Given the description of an element on the screen output the (x, y) to click on. 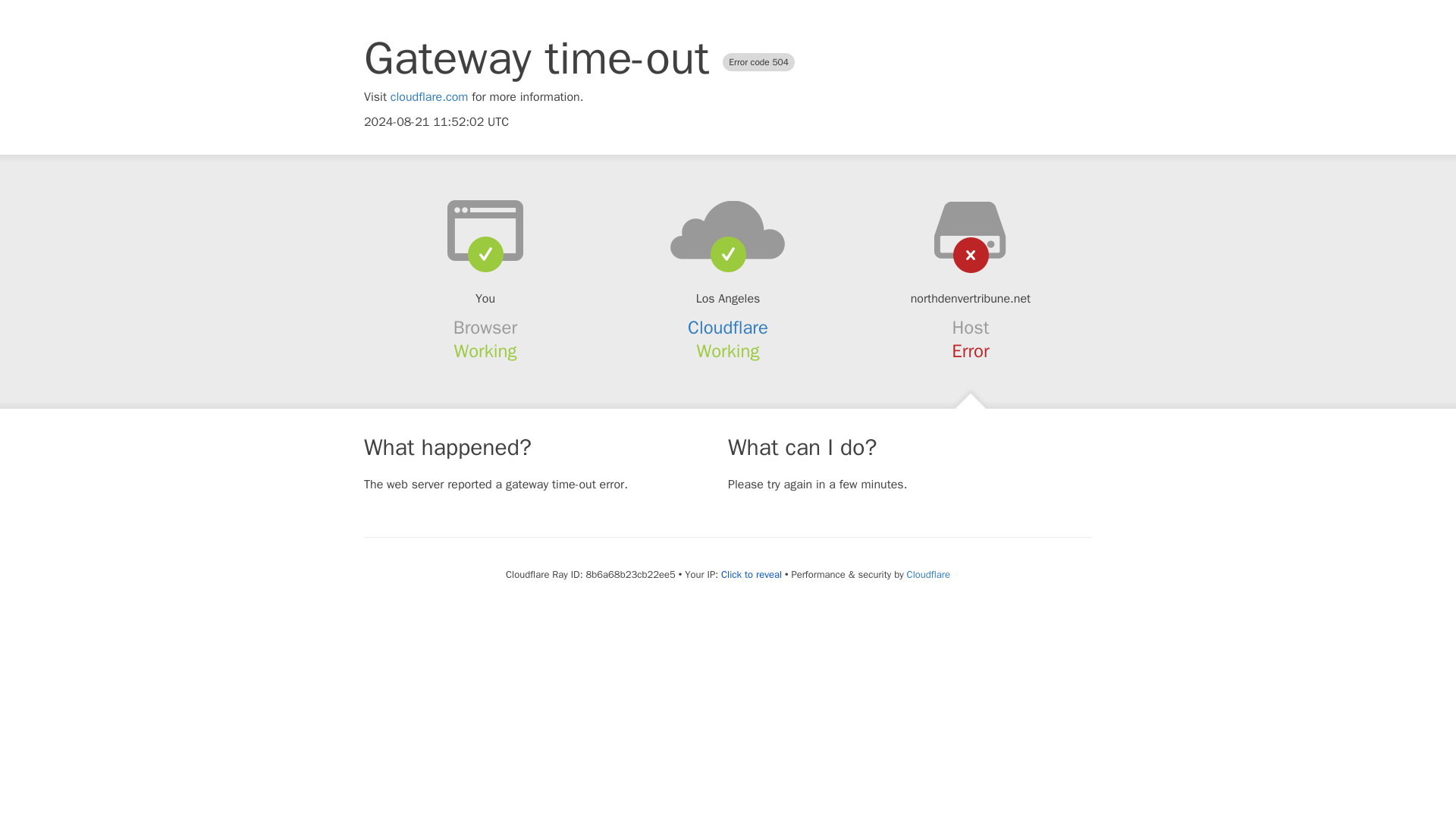
cloudflare.com (429, 96)
Click to reveal (750, 574)
Cloudflare (727, 327)
Cloudflare (928, 574)
